Given the description of an element on the screen output the (x, y) to click on. 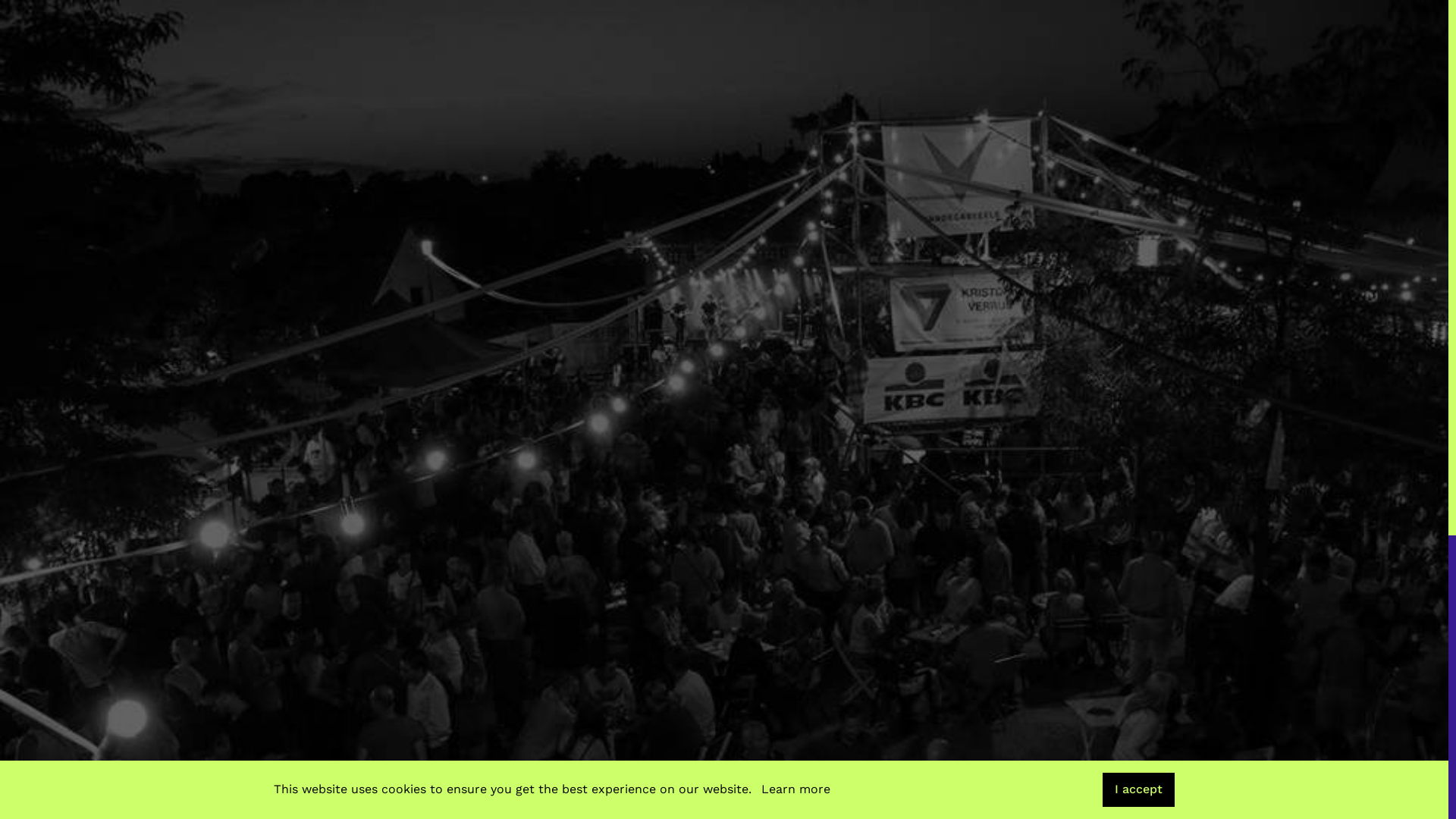
I accept Element type: text (1138, 789)
Learn more Element type: text (795, 789)
